Given the description of an element on the screen output the (x, y) to click on. 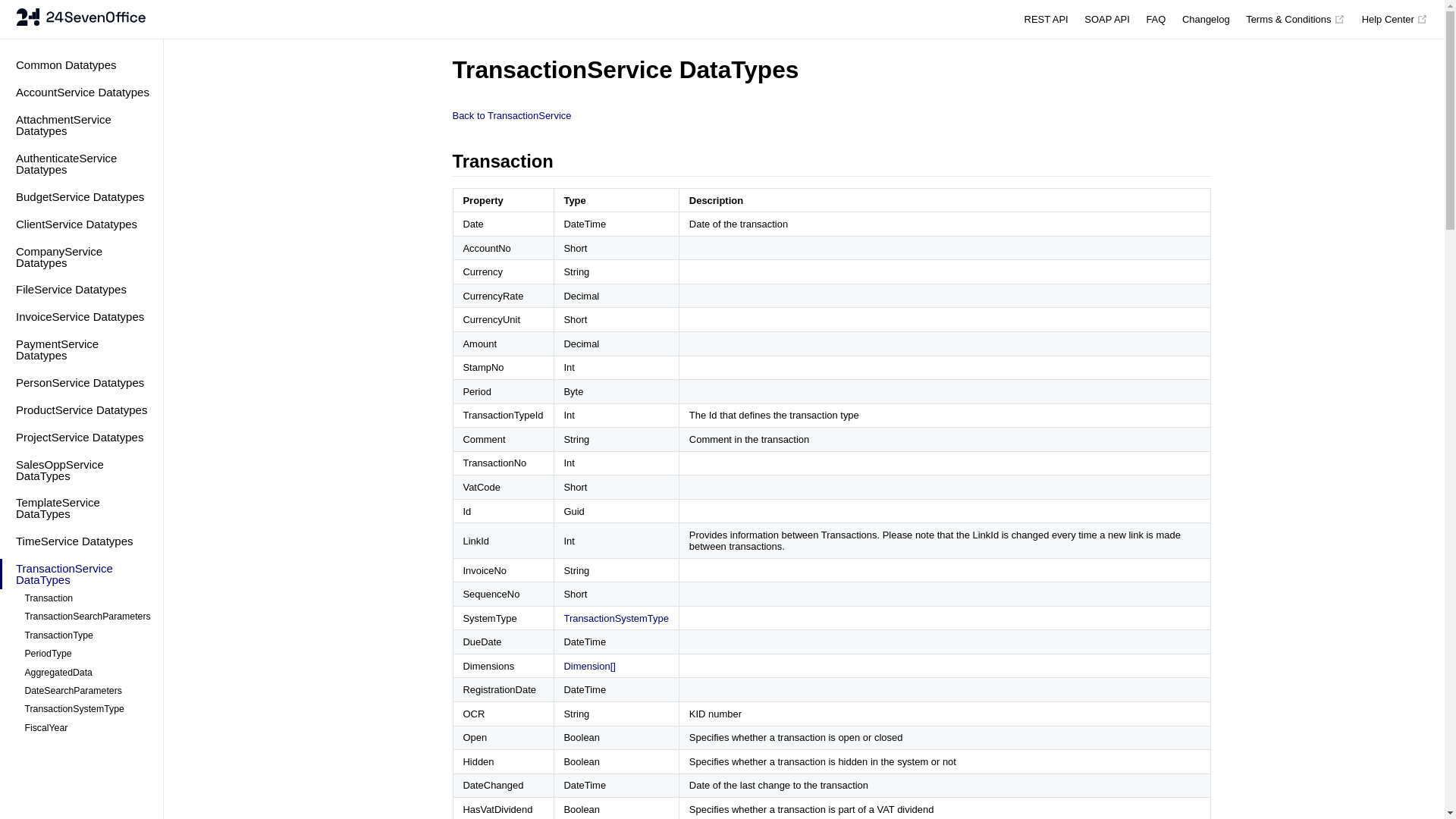
Transaction Element type: text (86, 598)
PersonService Datatypes Element type: text (81, 382)
AccountService Datatypes Element type: text (81, 91)
REST API Element type: text (1046, 19)
AuthenticateService Datatypes Element type: text (81, 163)
Common Datatypes Element type: text (81, 64)
InvoiceService Datatypes Element type: text (81, 316)
ProjectService Datatypes Element type: text (81, 436)
FileService Datatypes Element type: text (81, 288)
TransactionType Element type: text (86, 635)
ClientService Datatypes Element type: text (81, 223)
CompanyService Datatypes Element type: text (81, 256)
Help Center
(opens new window) Element type: text (1394, 19)
BudgetService Datatypes Element type: text (81, 196)
TimeService Datatypes Element type: text (81, 540)
TransactionSystemType Element type: text (615, 618)
Terms & Conditions
(opens new window) Element type: text (1295, 19)
FAQ Element type: text (1155, 19)
TransactionService DataTypes Element type: text (81, 573)
DateSearchParameters Element type: text (86, 690)
Changelog Element type: text (1206, 19)
FiscalYear Element type: text (86, 727)
Back to TransactionService Element type: text (511, 115)
ProductService Datatypes Element type: text (81, 409)
AttachmentService Datatypes Element type: text (81, 124)
PaymentService Datatypes Element type: text (81, 349)
SOAP API Element type: text (1106, 19)
Dimension[] Element type: text (589, 665)
TemplateService DataTypes Element type: text (81, 507)
TransactionSystemType Element type: text (86, 709)
TransactionSearchParameters Element type: text (86, 617)
PeriodType Element type: text (86, 653)
SalesOppService DataTypes Element type: text (81, 470)
AggregatedData Element type: text (86, 672)
